Given the description of an element on the screen output the (x, y) to click on. 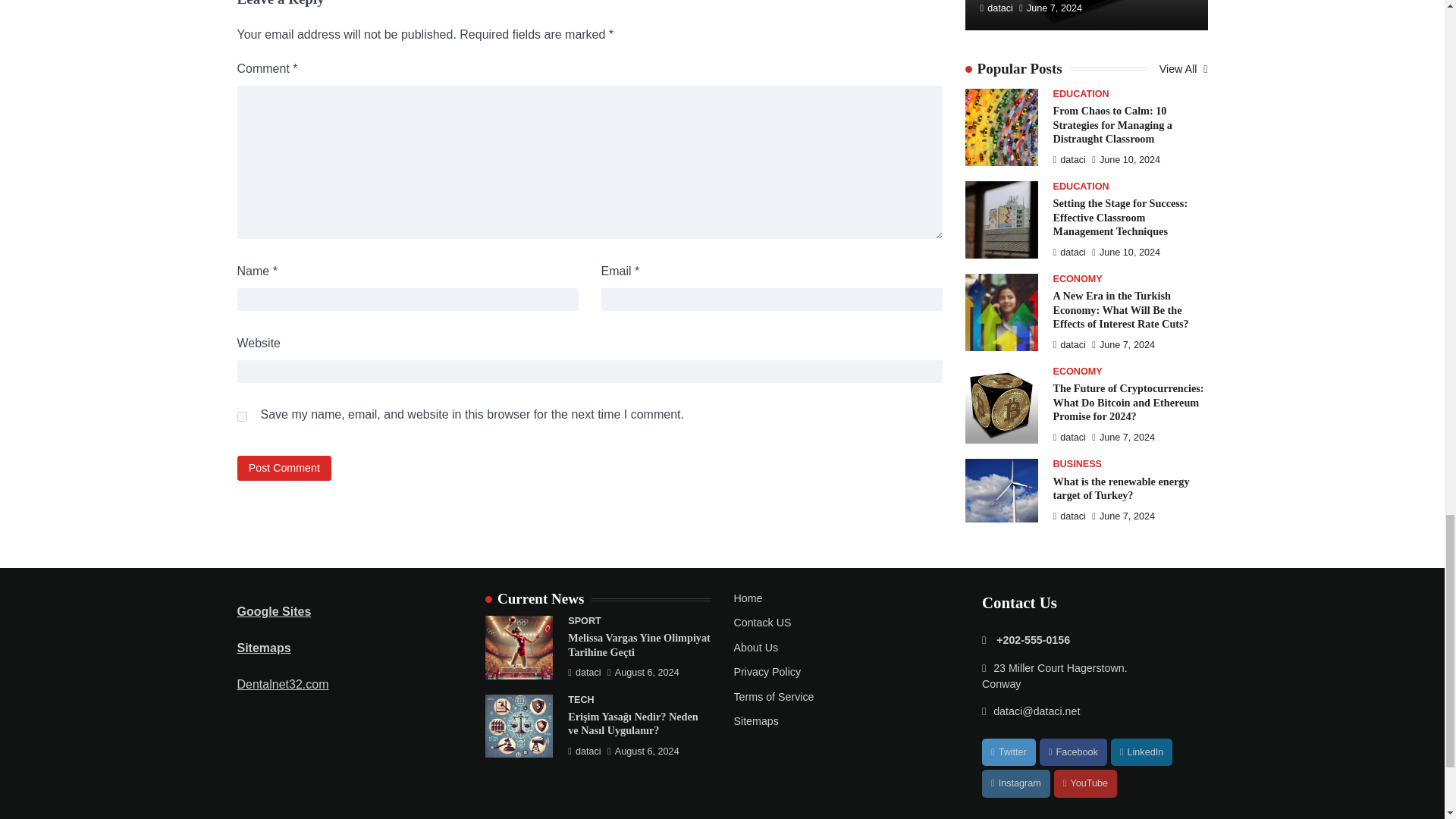
yes (240, 416)
Post Comment (283, 467)
Post Comment (283, 467)
